Given the description of an element on the screen output the (x, y) to click on. 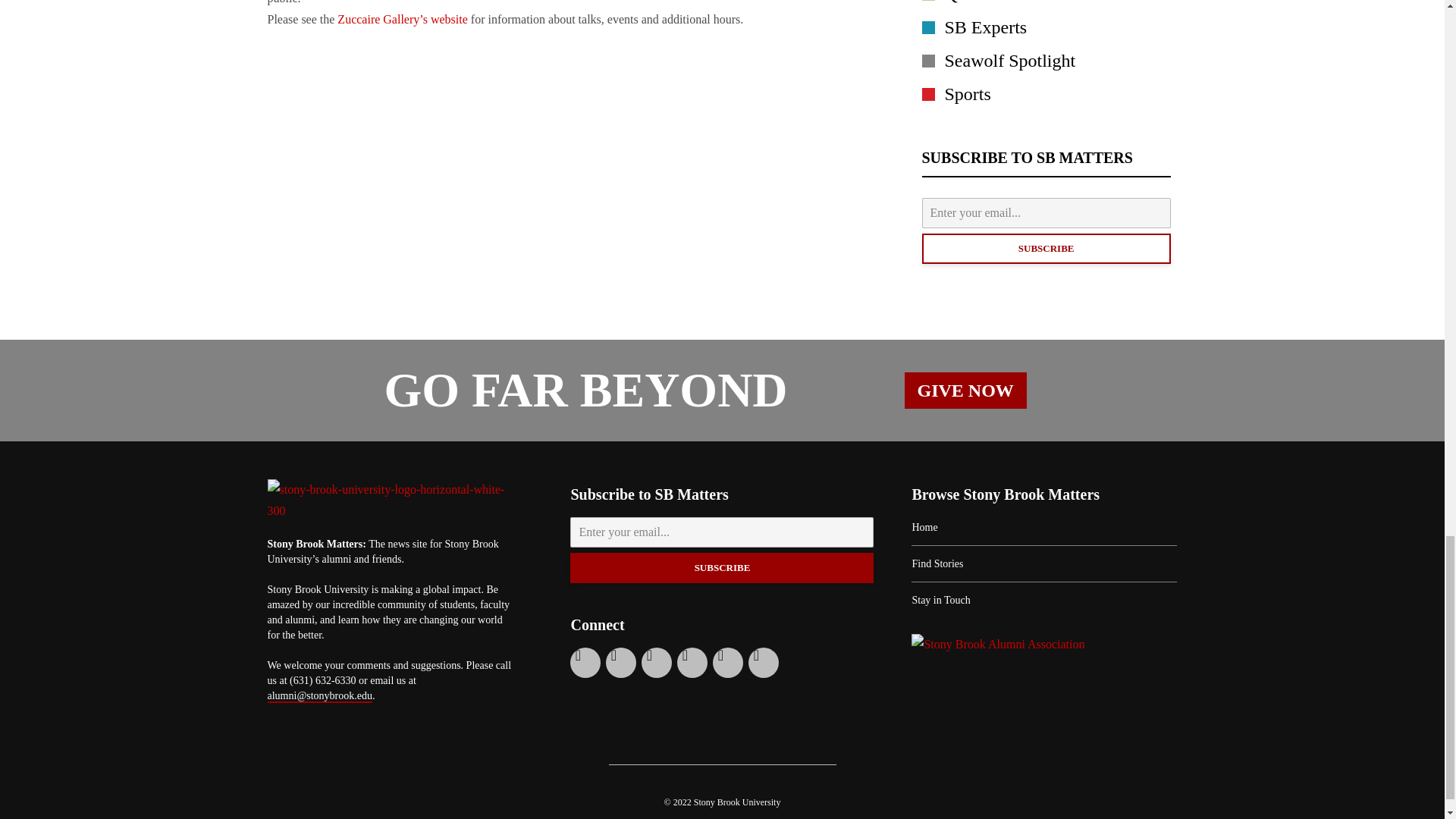
stony-brook-university-logo-horizontal-white-300 (389, 500)
